Given the description of an element on the screen output the (x, y) to click on. 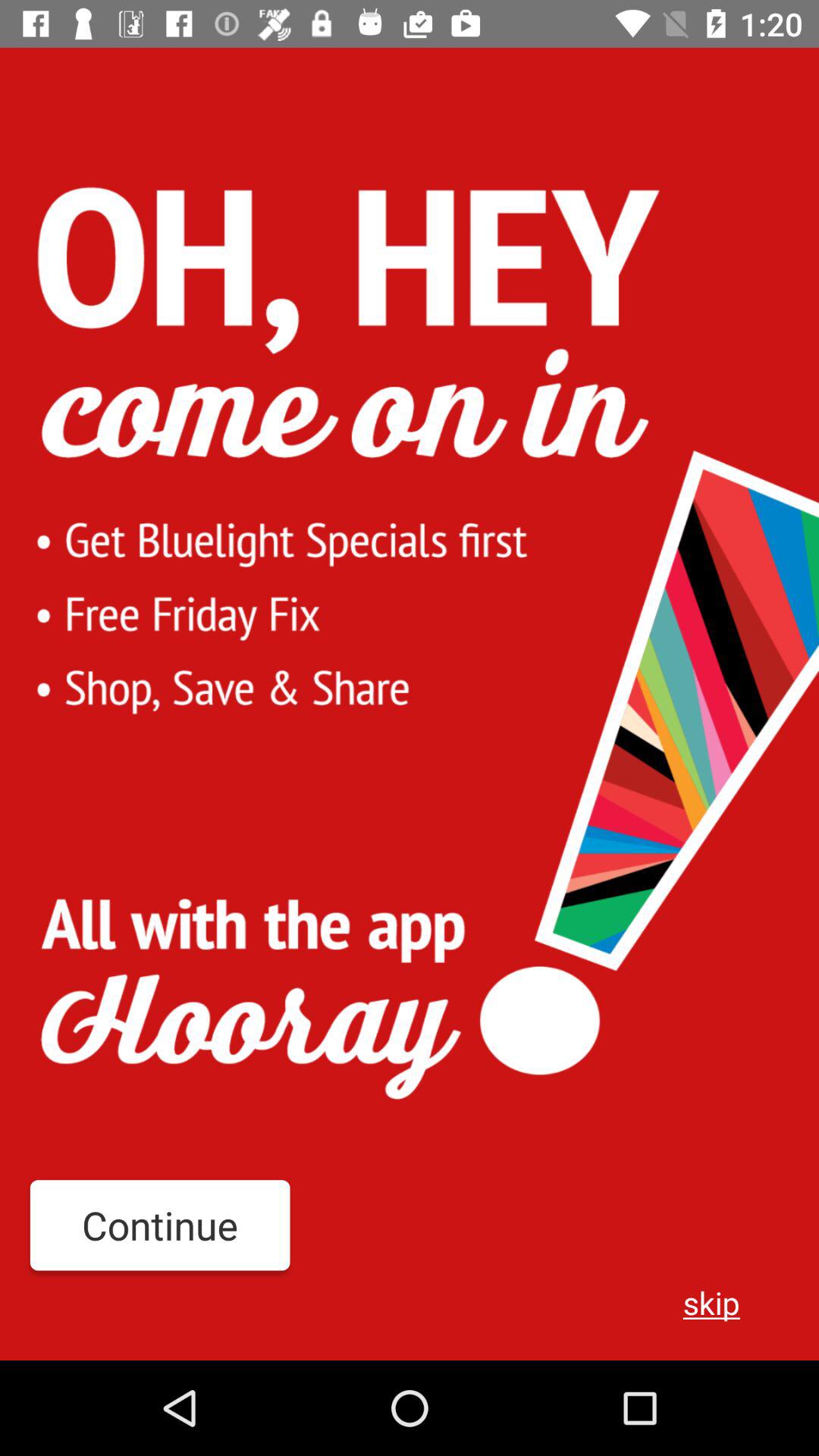
tap the item to the left of the skip item (160, 1225)
